Given the description of an element on the screen output the (x, y) to click on. 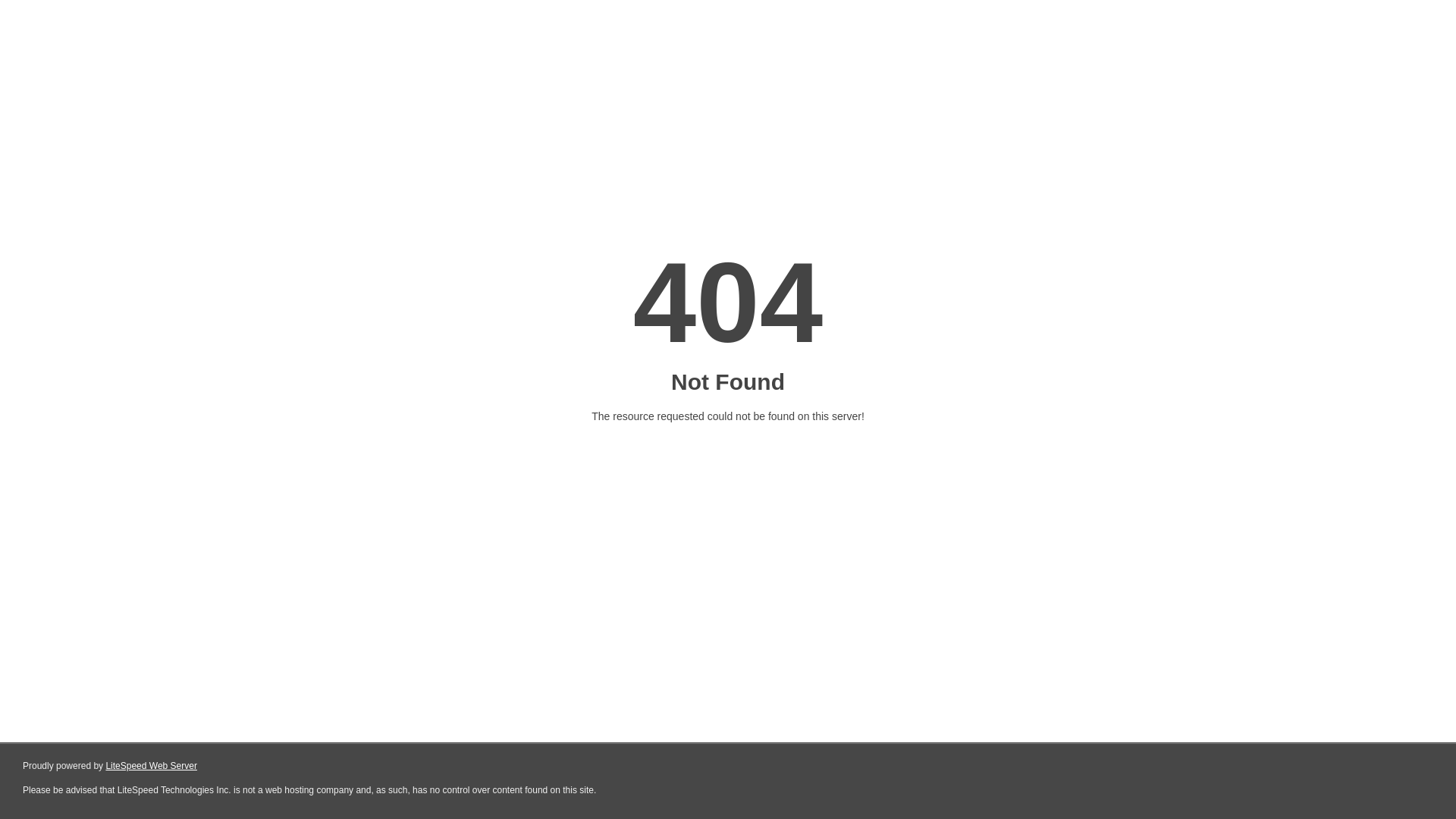
LiteSpeed Web Server Element type: text (151, 765)
